Given the description of an element on the screen output the (x, y) to click on. 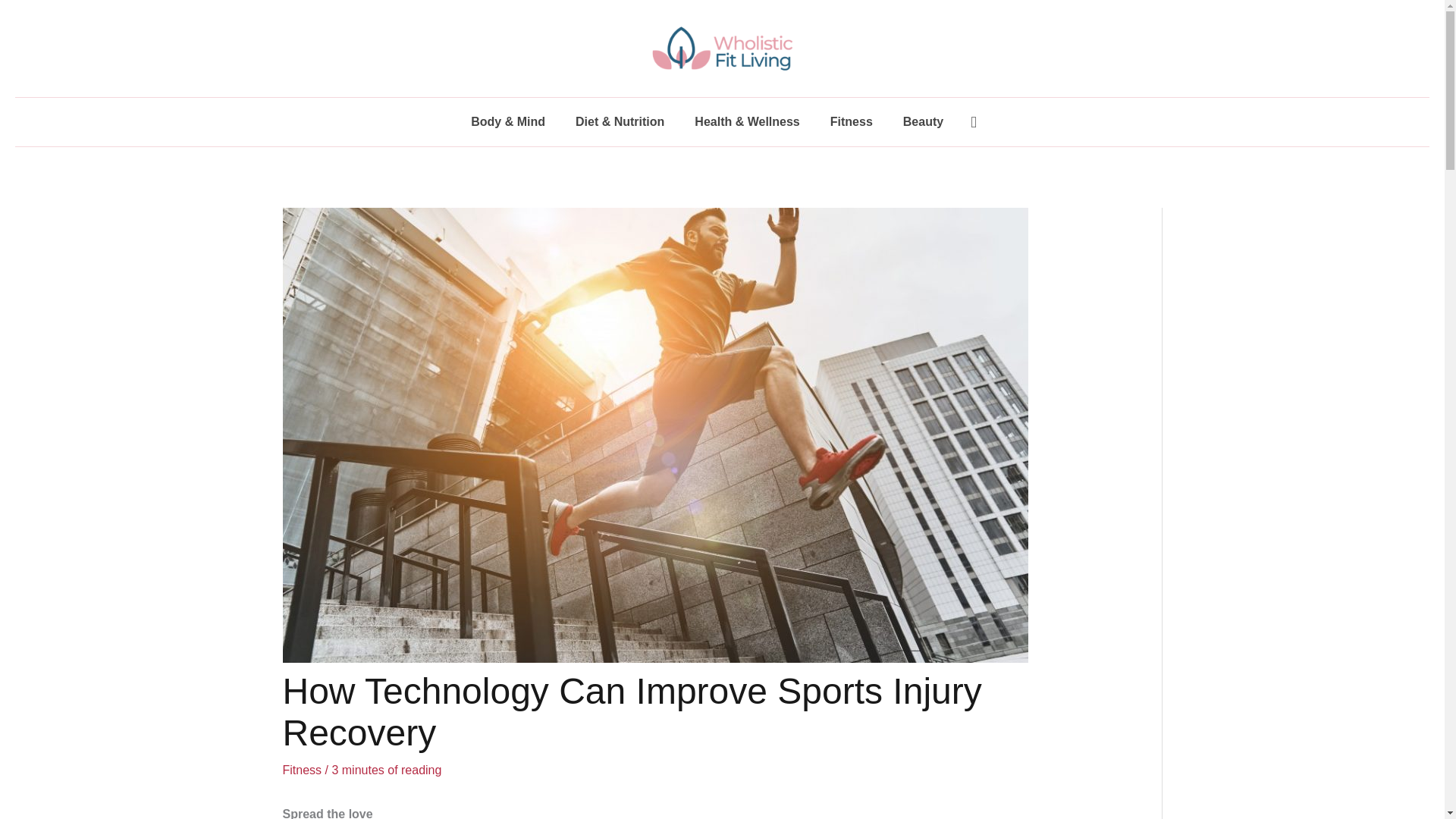
Beauty (923, 121)
Fitness (851, 121)
Fitness (301, 769)
